Given the description of an element on the screen output the (x, y) to click on. 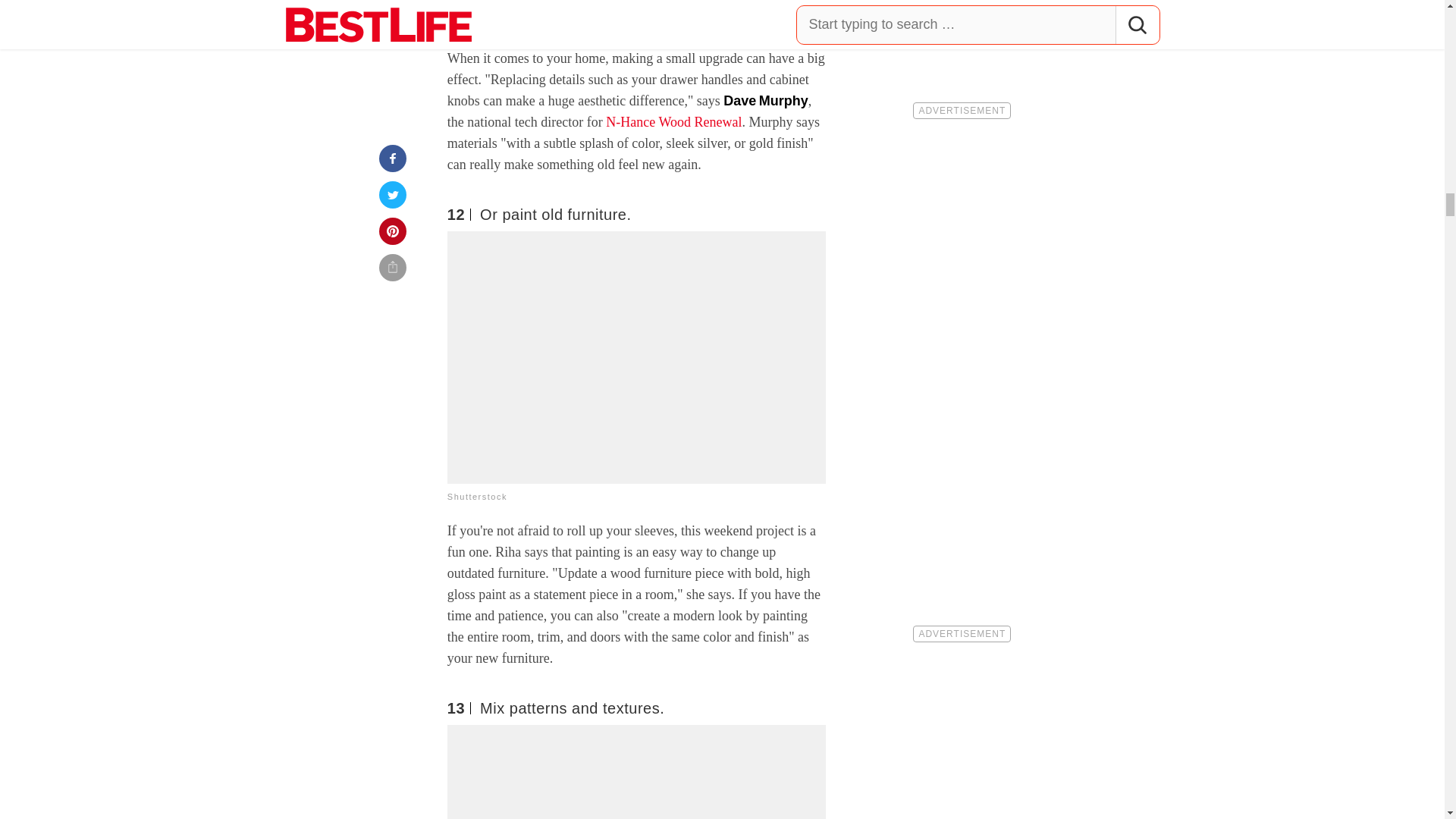
N-Hance Wood Renewal (673, 121)
